Given the description of an element on the screen output the (x, y) to click on. 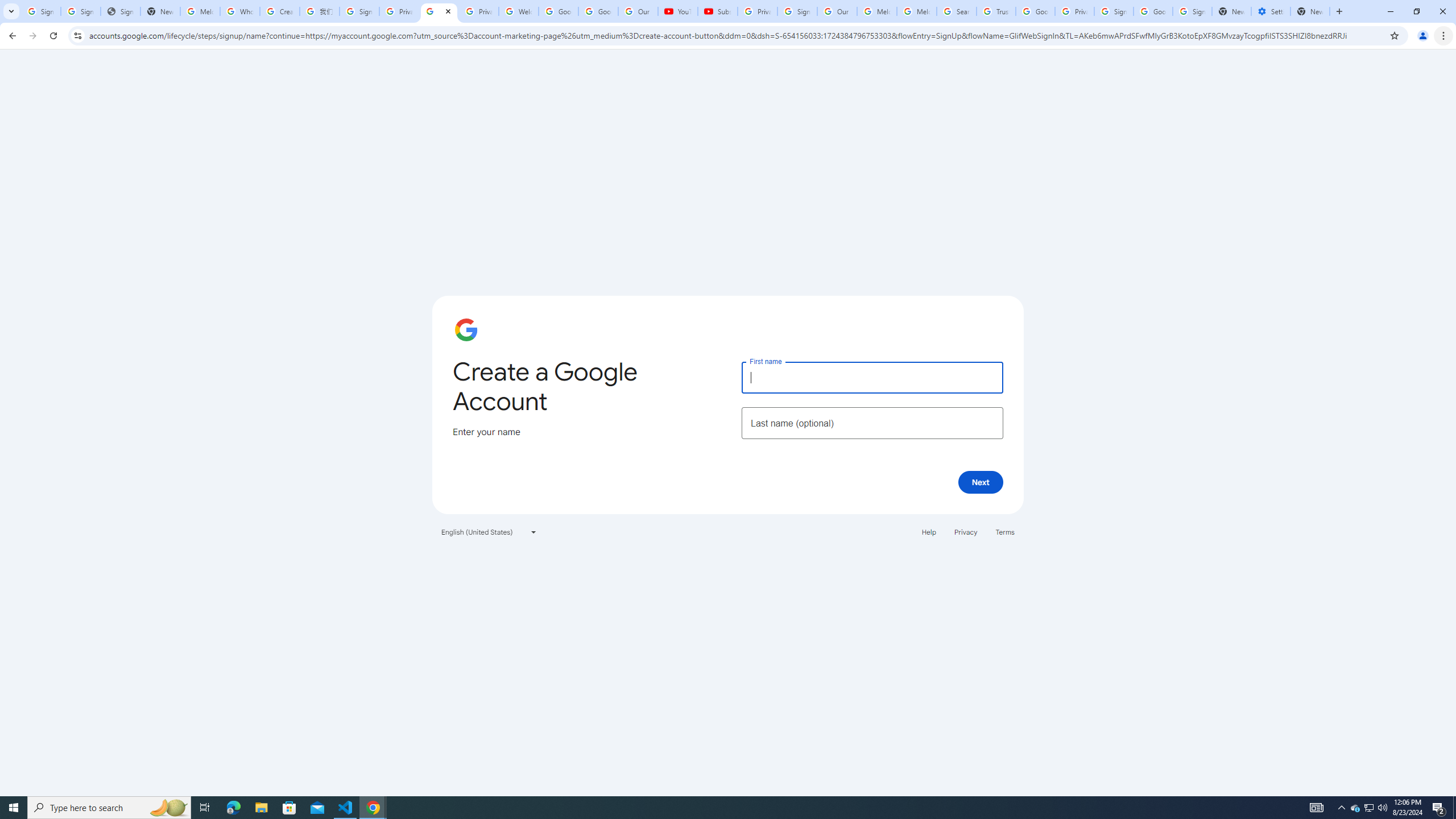
Subscriptions - YouTube (717, 11)
Google Ads - Sign in (1034, 11)
English (United States) (489, 531)
Create your Google Account (279, 11)
YouTube (677, 11)
